Given the description of an element on the screen output the (x, y) to click on. 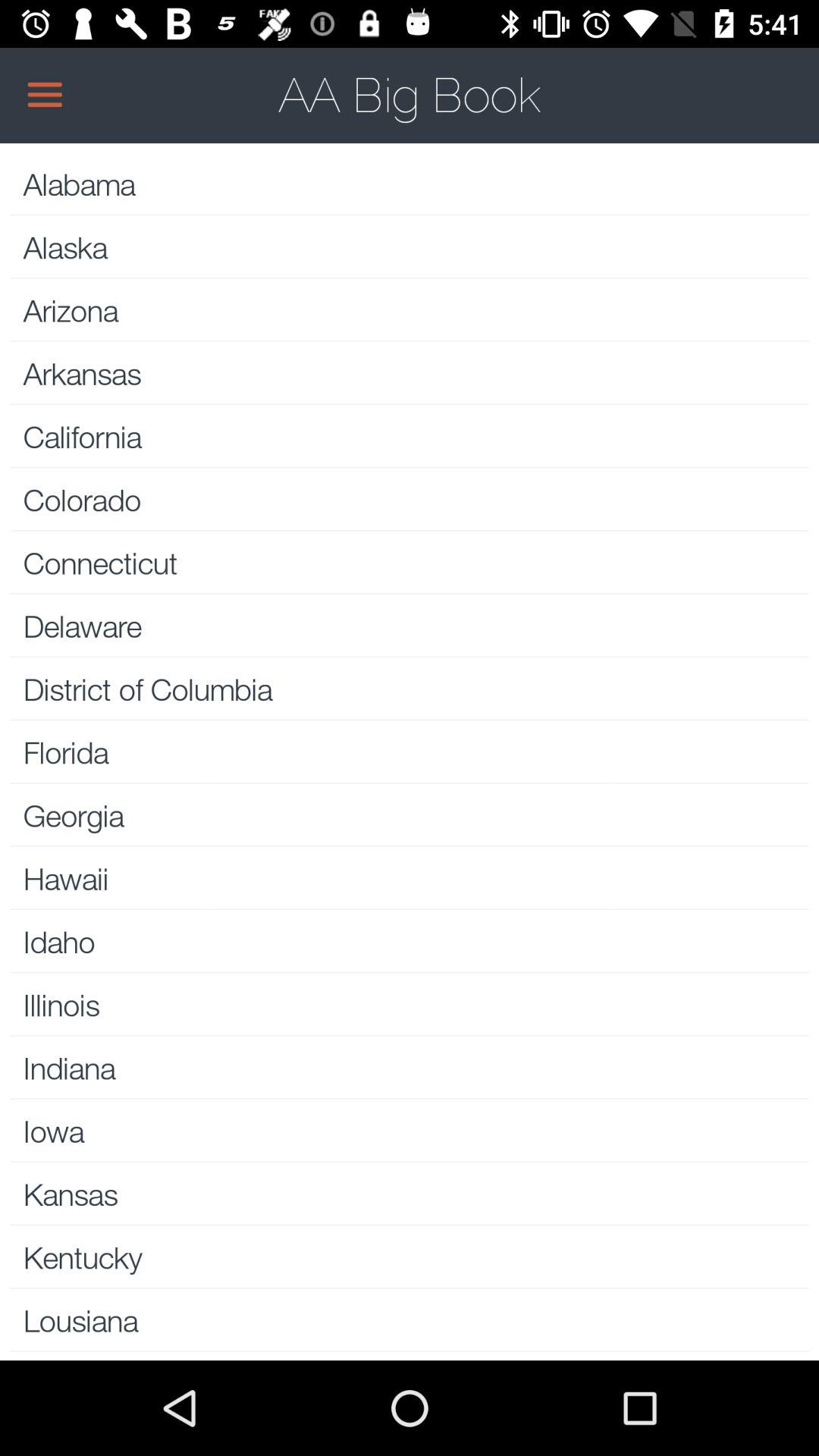
display options menu (409, 95)
